Given the description of an element on the screen output the (x, y) to click on. 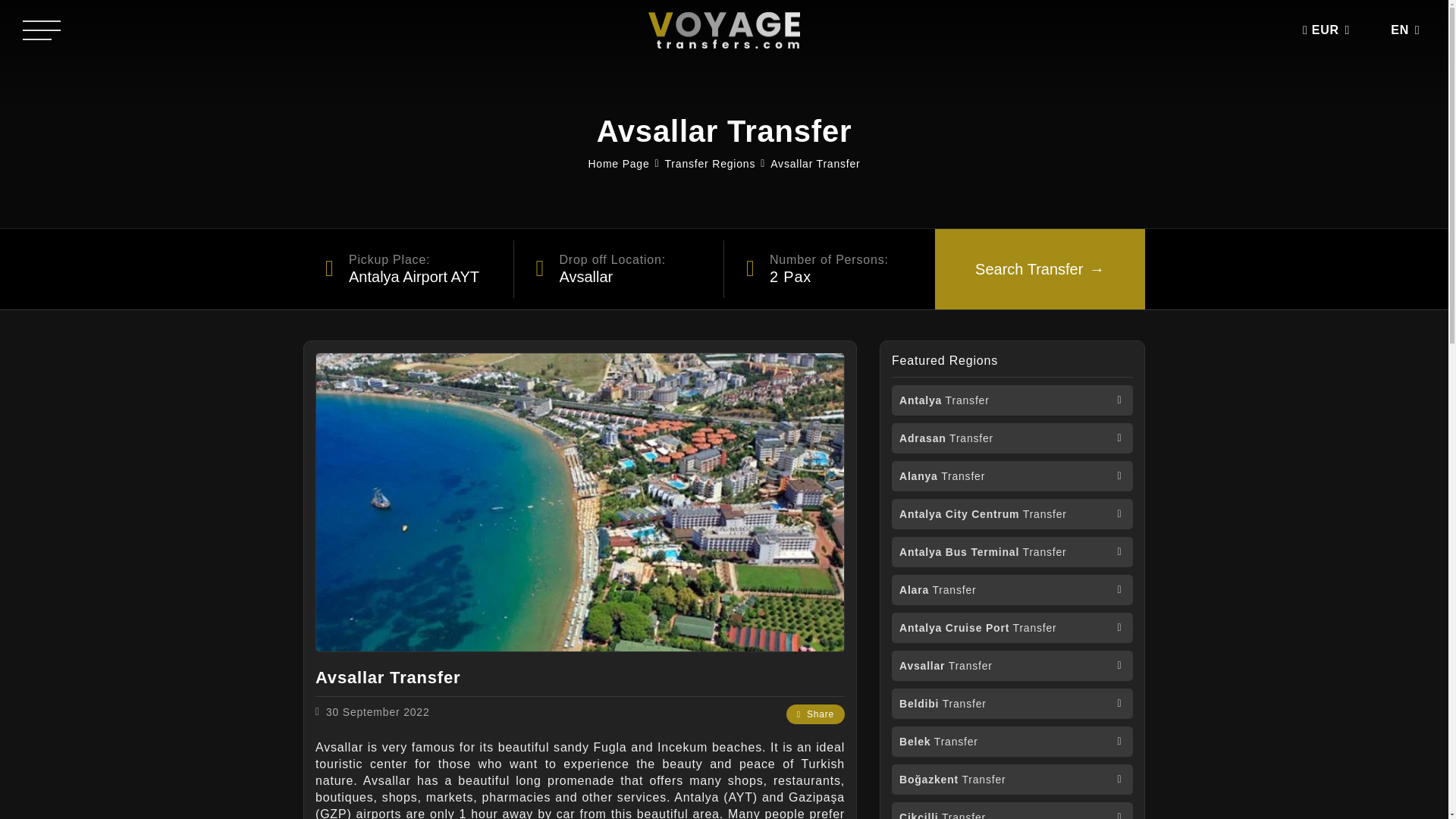
Home Page (618, 163)
Antalya Airport AYT (407, 269)
Alara Transfer (1011, 589)
Search Transfer (1039, 269)
EN (1398, 30)
Avsallar Transfer (815, 163)
Antalya Cruise Port Transfer (1011, 627)
Alanya Transfer (1011, 476)
Antalya Transfer (1011, 399)
Transfer Regions (710, 163)
